Given the description of an element on the screen output the (x, y) to click on. 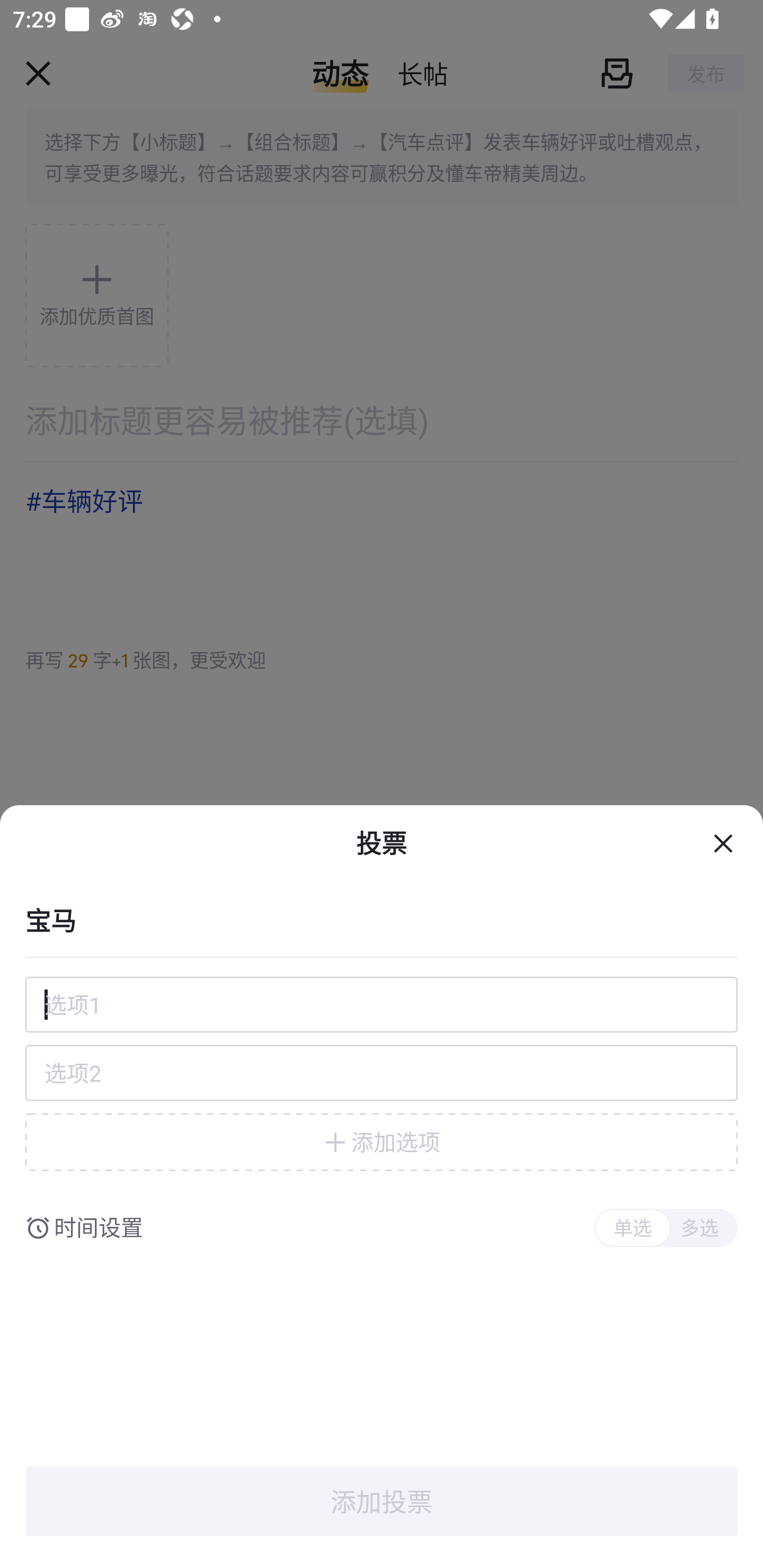
宝马 (381, 918)
选项1 (381, 1003)
选项2 (381, 1072)
添加选项 (381, 1142)
单选 (632, 1227)
多选 (699, 1227)
时间设置 (98, 1227)
添加投票 (381, 1501)
